Given the description of an element on the screen output the (x, y) to click on. 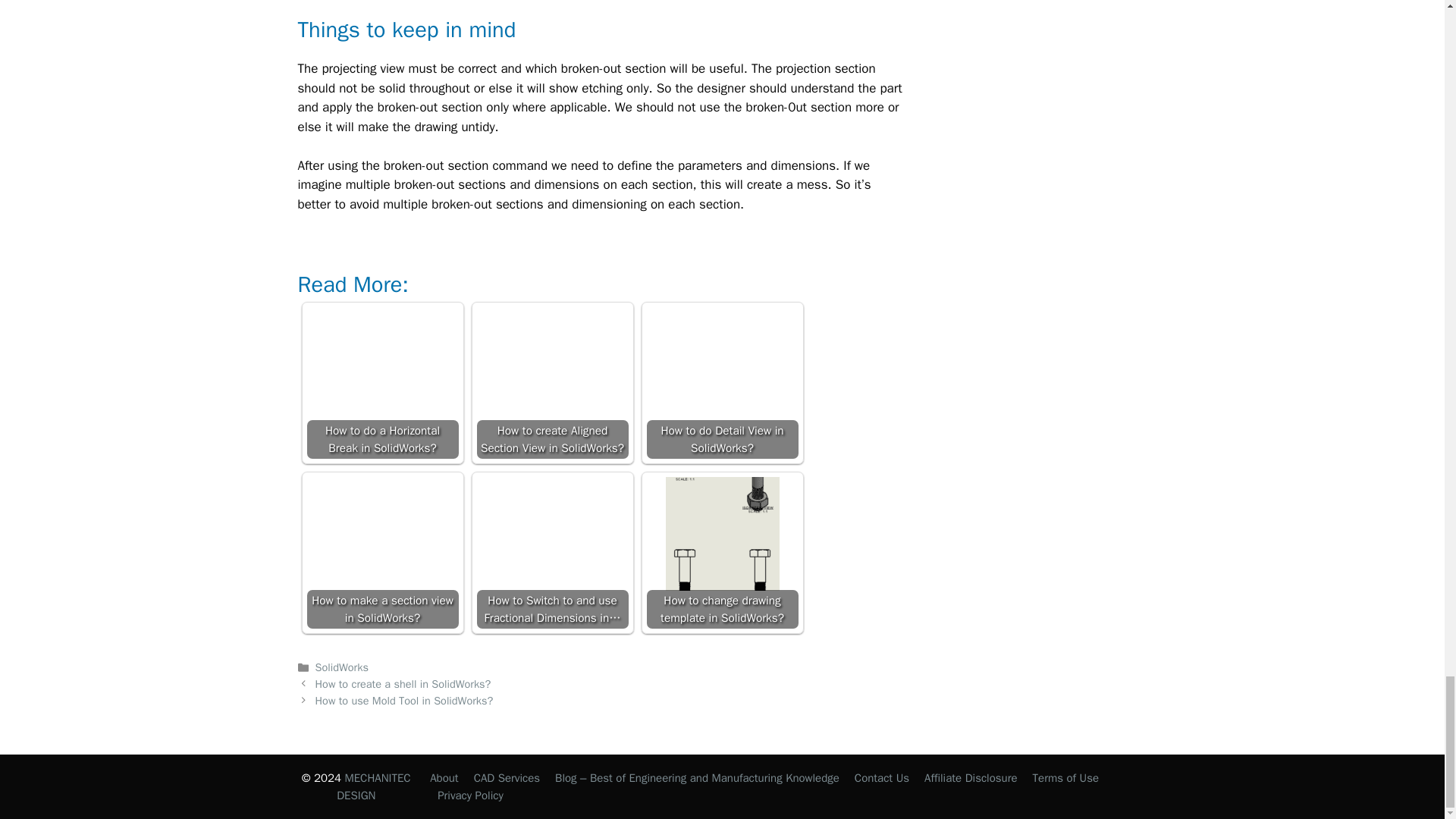
How to make a section view in SolidWorks? (381, 552)
How to do Detail View in SolidWorks? (721, 363)
How to create Aligned Section View in SolidWorks? (551, 382)
How to do Detail View in SolidWorks? (721, 382)
How to change drawing template in SolidWorks? (721, 552)
How to create a shell in SolidWorks? (403, 684)
How to do a Horizontal Break in SolidWorks? (382, 363)
How to make a section view in SolidWorks? (382, 533)
How to do a Horizontal Break in SolidWorks? (381, 382)
How to change drawing template in SolidWorks? (721, 533)
How to use Mold Tool in SolidWorks? (404, 700)
How to create Aligned Section View in SolidWorks? (553, 363)
SolidWorks (341, 667)
